Given the description of an element on the screen output the (x, y) to click on. 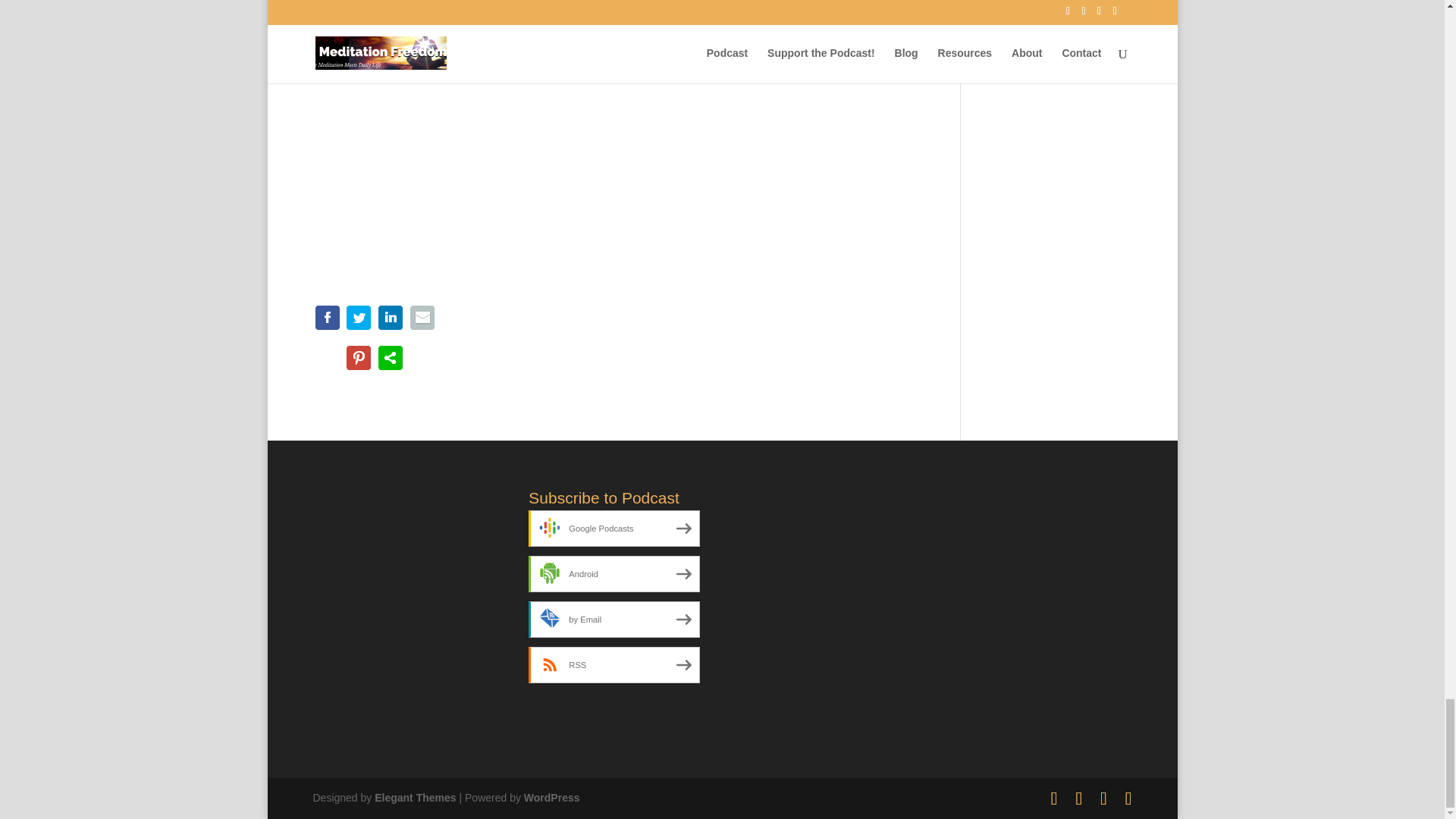
Premium WordPress Themes (414, 797)
Subscribe by Email (613, 619)
Subscribe on Android (613, 574)
Subscribe on Google Podcasts (613, 528)
Subscribe via RSS (613, 665)
